Given the description of an element on the screen output the (x, y) to click on. 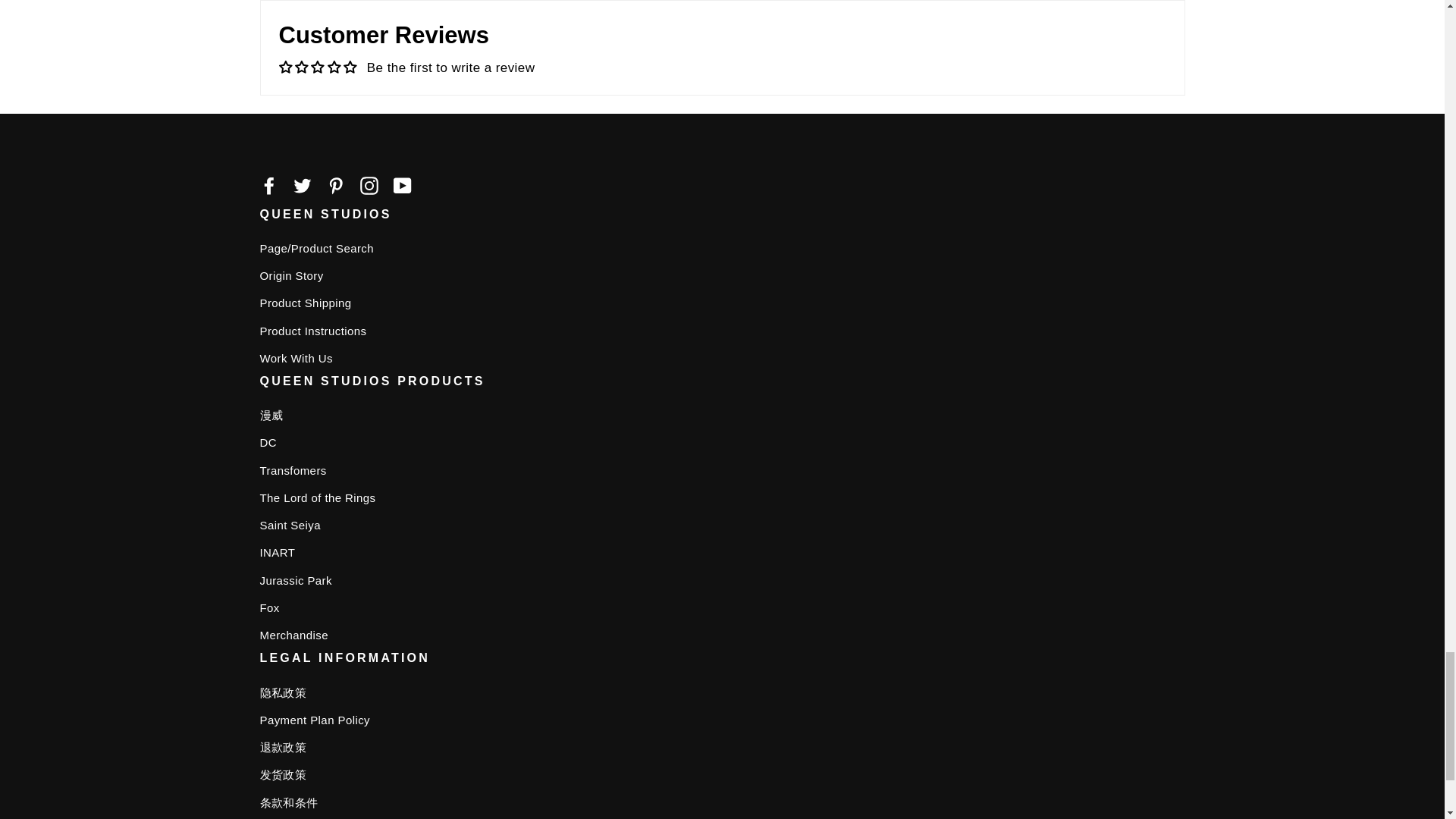
Queen Studios on Twitter (302, 184)
Queen Studios on YouTube (402, 184)
Queen Studios on Instagram (368, 184)
